Given the description of an element on the screen output the (x, y) to click on. 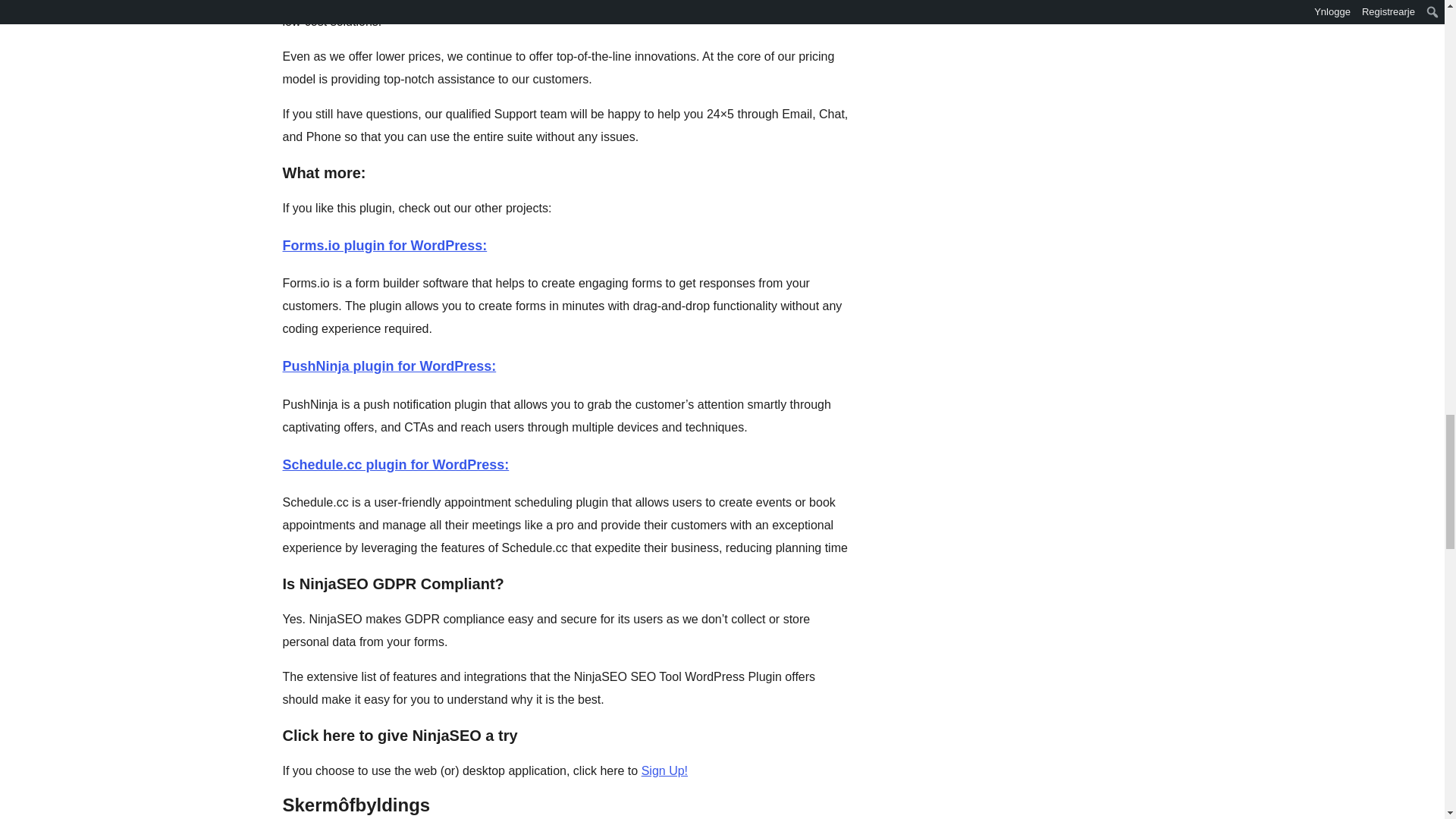
Schedule.cc plugin for WordPress: (395, 464)
Forms.io plugin for WordPress: (384, 245)
PushNinja plugin for WordPress: (389, 365)
